Given the description of an element on the screen output the (x, y) to click on. 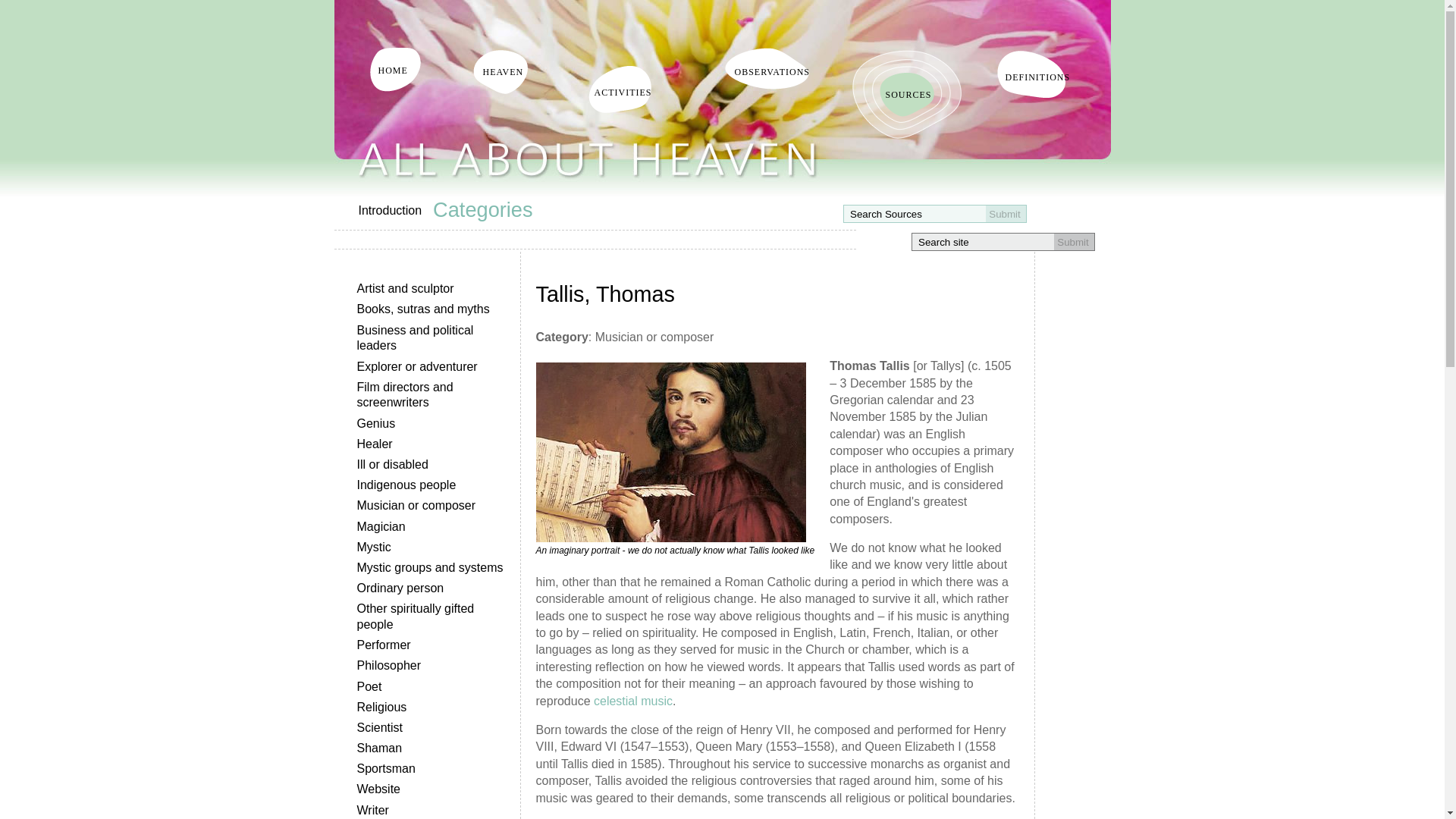
Introduction (395, 210)
Musician or composer (434, 506)
Film directors and screenwriters (434, 394)
Explorer or adventurer (434, 366)
Magician (434, 526)
Website (434, 789)
Scientist (434, 728)
Business and political leaders (434, 338)
Sportsman (434, 769)
Genius (434, 423)
Philosopher (434, 666)
Submit (1005, 213)
Other spiritually gifted people (434, 616)
Artist and sculptor (434, 289)
Indigenous people (434, 485)
